Given the description of an element on the screen output the (x, y) to click on. 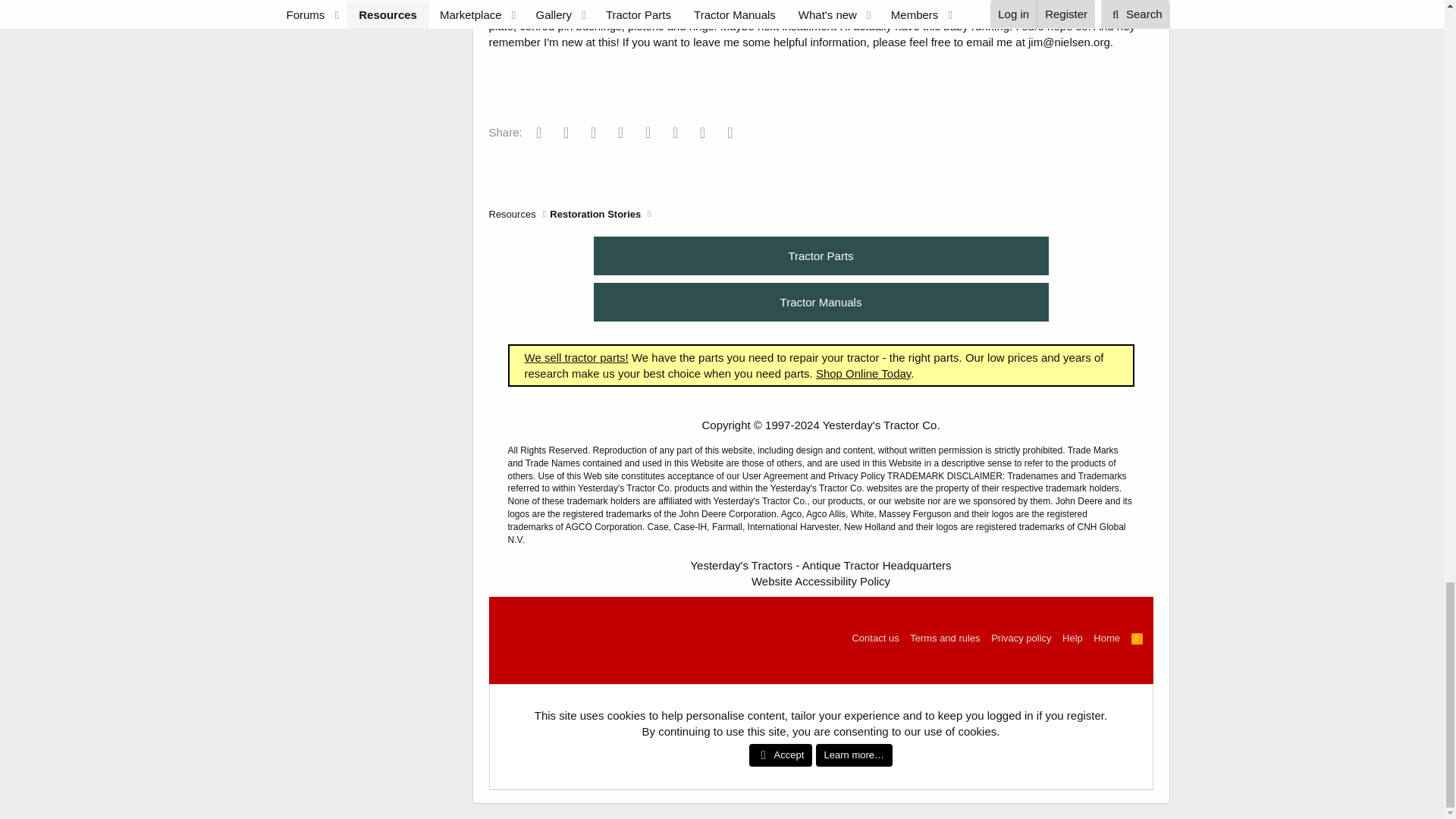
RSS (1136, 637)
